Given the description of an element on the screen output the (x, y) to click on. 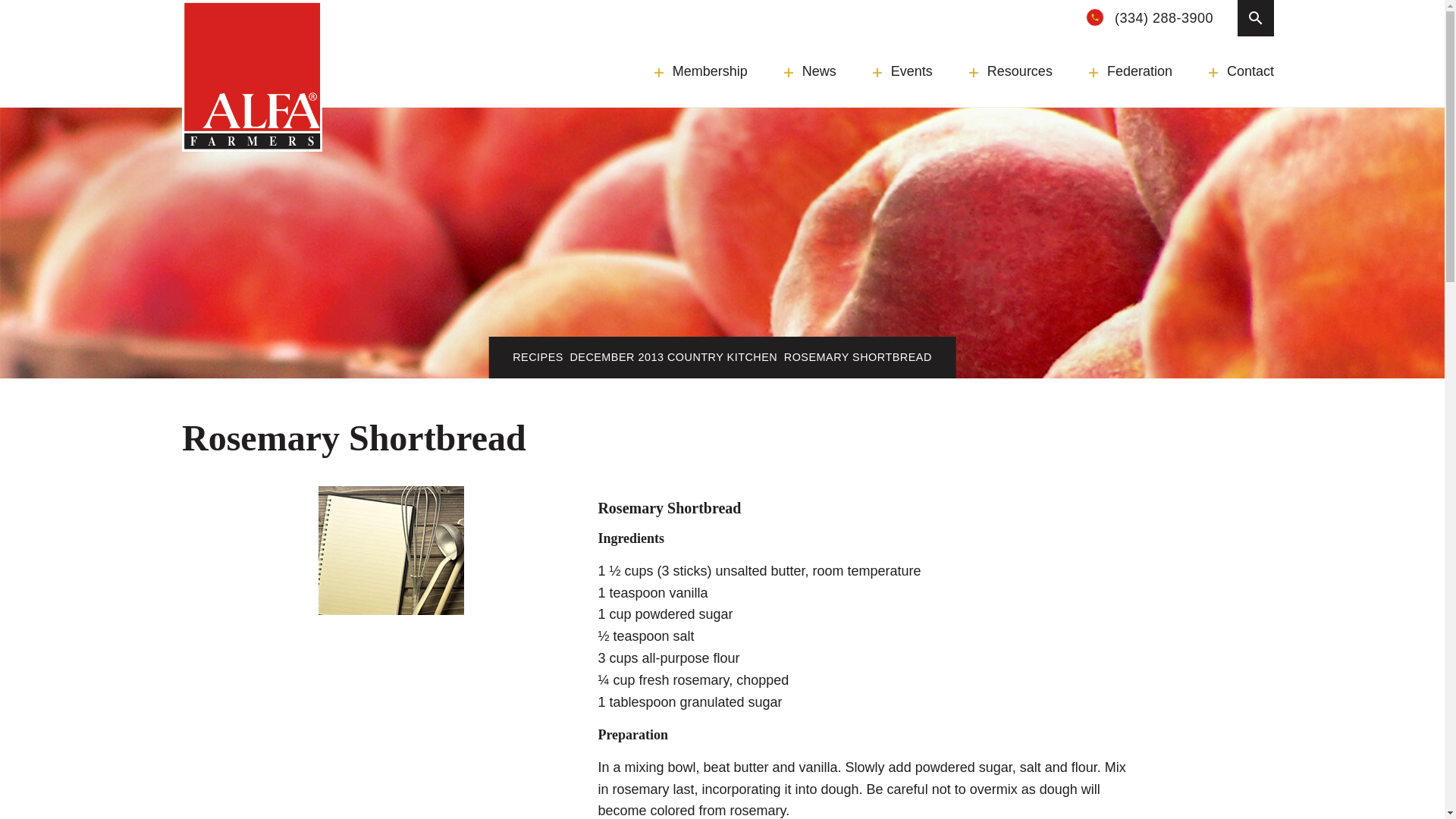
Resources (1010, 71)
Alabama Farmers Federation (251, 75)
Events (902, 71)
Alabama Farmers Federation (251, 75)
Search (416, 12)
Federation (1130, 71)
Membership (700, 71)
Search (1255, 18)
News (809, 71)
Contact (1241, 71)
